Given the description of an element on the screen output the (x, y) to click on. 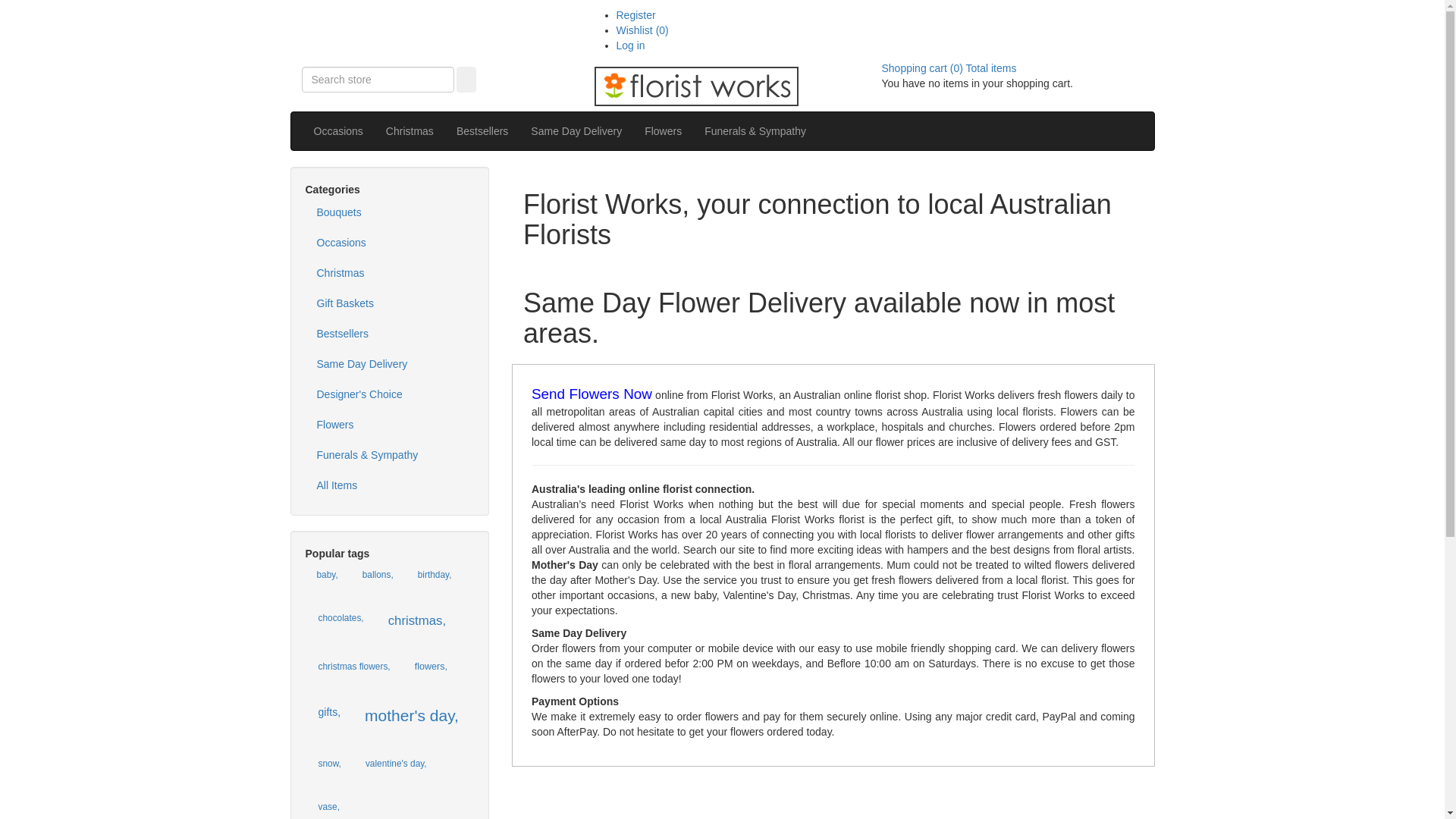
snow, Element type: text (328, 763)
Wishlist (0) Element type: text (641, 30)
Funerals & Sympathy Element type: text (755, 131)
Gift Baskets Element type: text (388, 303)
Register Element type: text (635, 15)
Funerals & Sympathy Element type: text (388, 454)
Christmas Element type: text (388, 272)
Same Day Delivery Element type: text (388, 363)
christmas, Element type: text (416, 620)
Bestsellers Element type: text (482, 131)
birthday, Element type: text (434, 575)
Shopping cart (0) Total items Element type: text (948, 68)
chocolates, Element type: text (340, 618)
Log in Element type: text (629, 45)
All Items Element type: text (388, 485)
Flowers Element type: text (663, 131)
valentine's day, Element type: text (396, 763)
ballons, Element type: text (377, 575)
Send Flowers Now Element type: text (591, 395)
Bouquets Element type: text (388, 212)
baby, Element type: text (326, 575)
Flowers Element type: text (388, 424)
christmas flowers, Element type: text (353, 666)
Same Day Delivery Element type: text (576, 131)
gifts, Element type: text (328, 711)
mother's day, Element type: text (411, 715)
Occasions Element type: text (337, 131)
Designer's Choice Element type: text (388, 394)
Occasions Element type: text (388, 242)
Christmas Element type: text (409, 131)
Bestsellers Element type: text (388, 333)
flowers, Element type: text (430, 666)
